Given the description of an element on the screen output the (x, y) to click on. 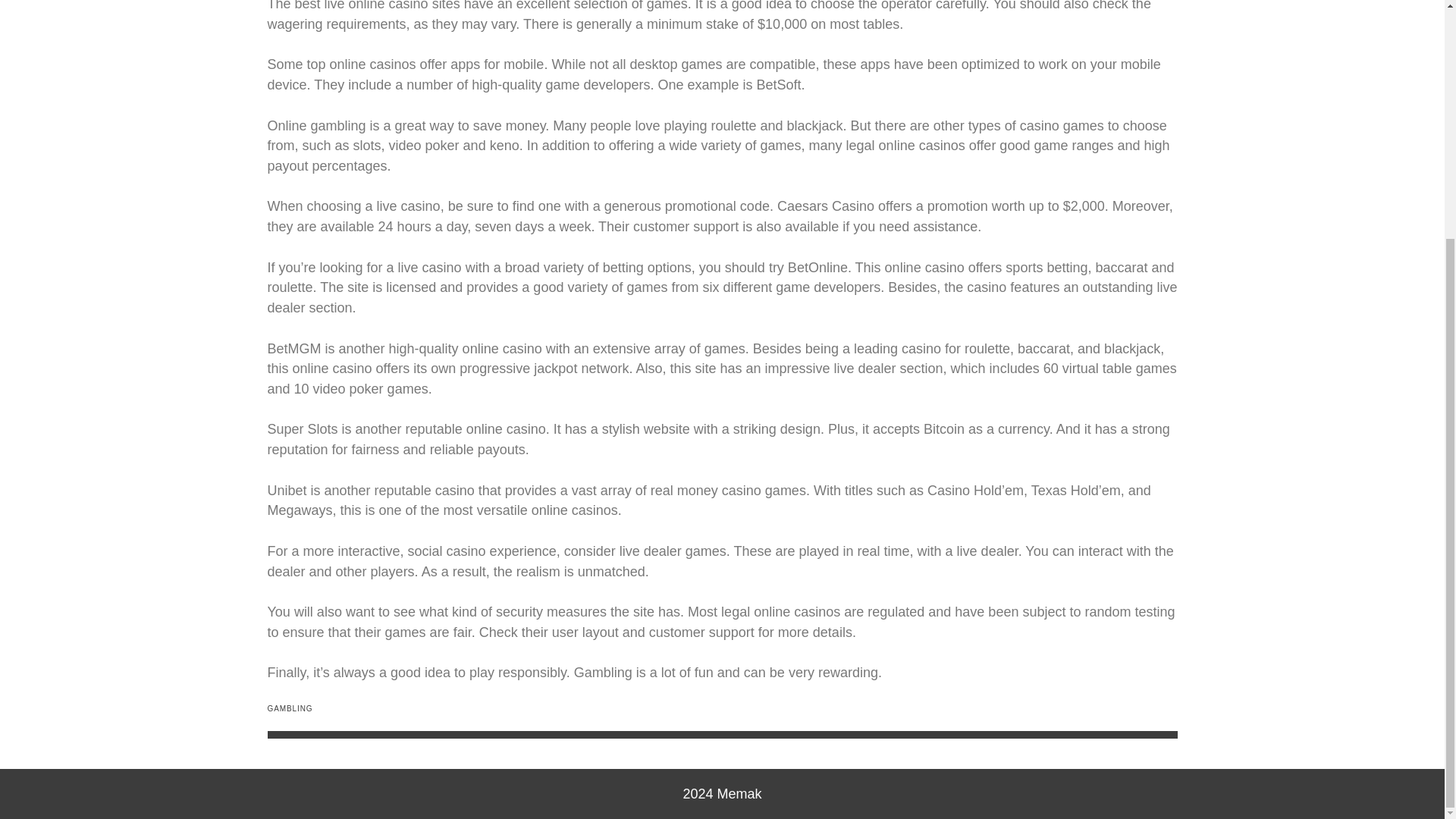
GAMBLING (289, 708)
